Given the description of an element on the screen output the (x, y) to click on. 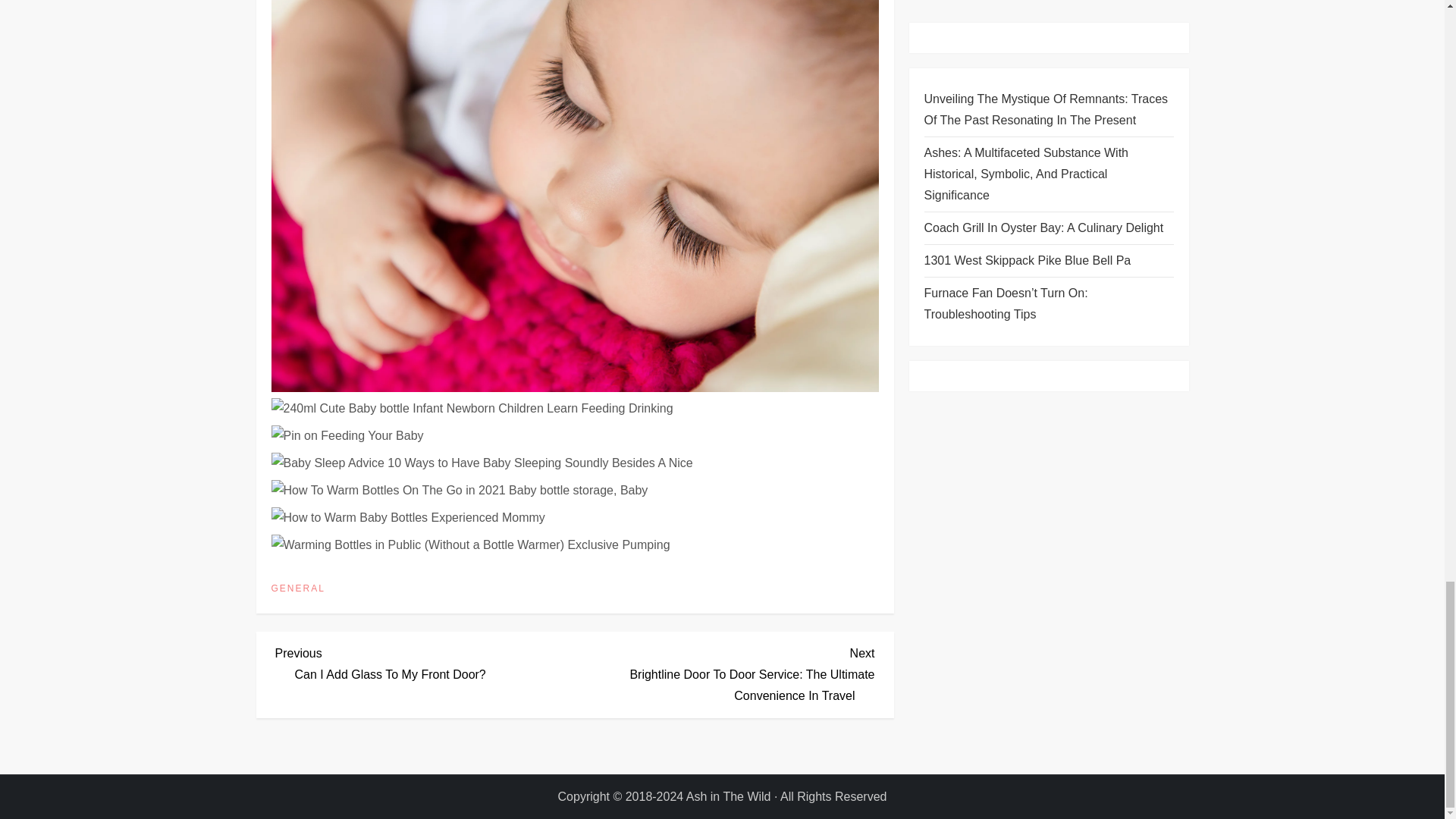
GENERAL (297, 589)
